Given the description of an element on the screen output the (x, y) to click on. 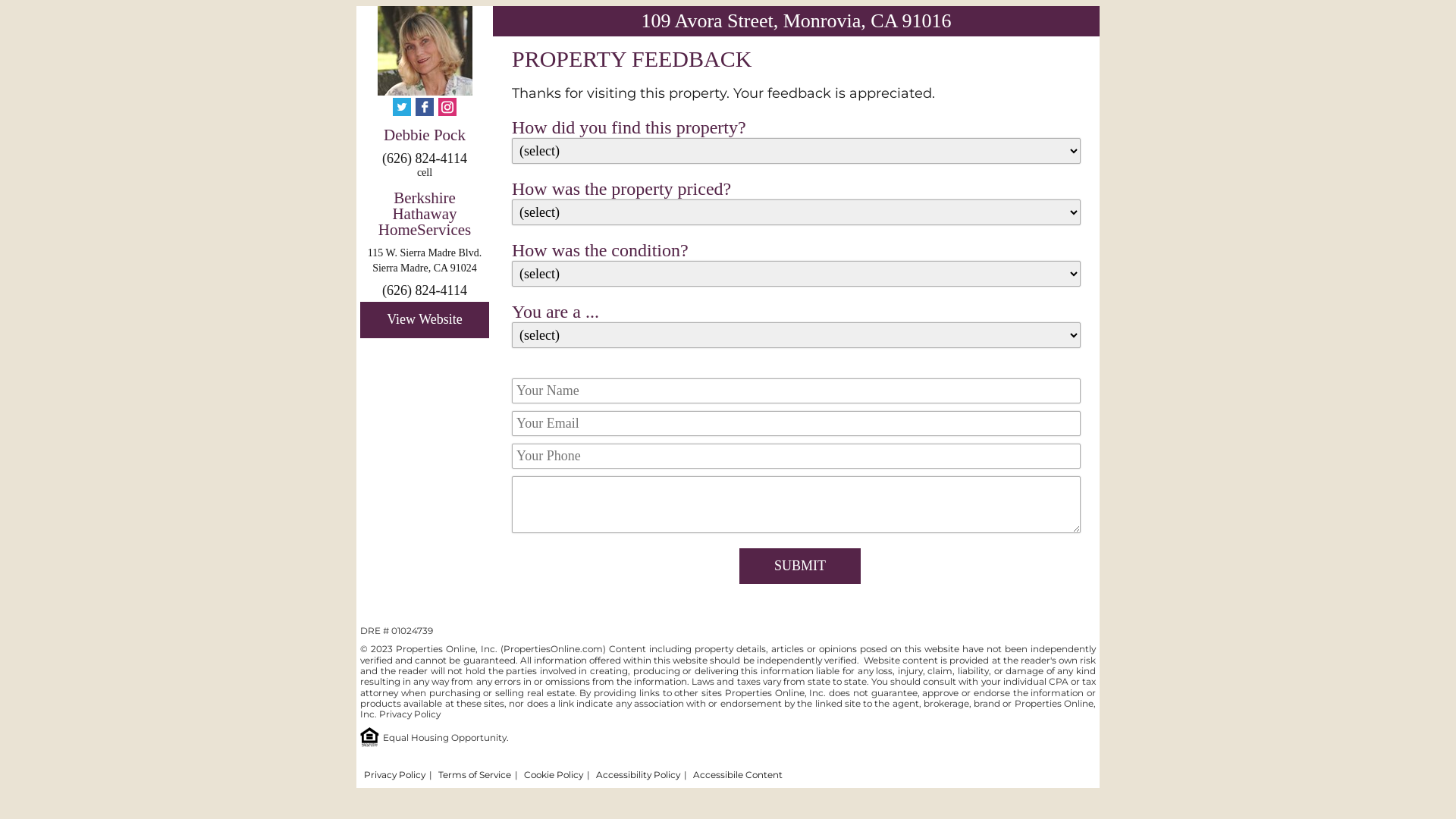
Privacy Policy Element type: text (394, 774)
Accessibility Policy Element type: text (638, 774)
PropertiesOnline.com Element type: text (552, 648)
Privacy Policy Element type: text (409, 713)
Terms of Service Element type: text (474, 774)
Accessibile Content Element type: text (737, 774)
Cookie Policy Element type: text (553, 774)
View Website Element type: text (424, 319)
Debbie Pock Element type: text (424, 136)
